Given the description of an element on the screen output the (x, y) to click on. 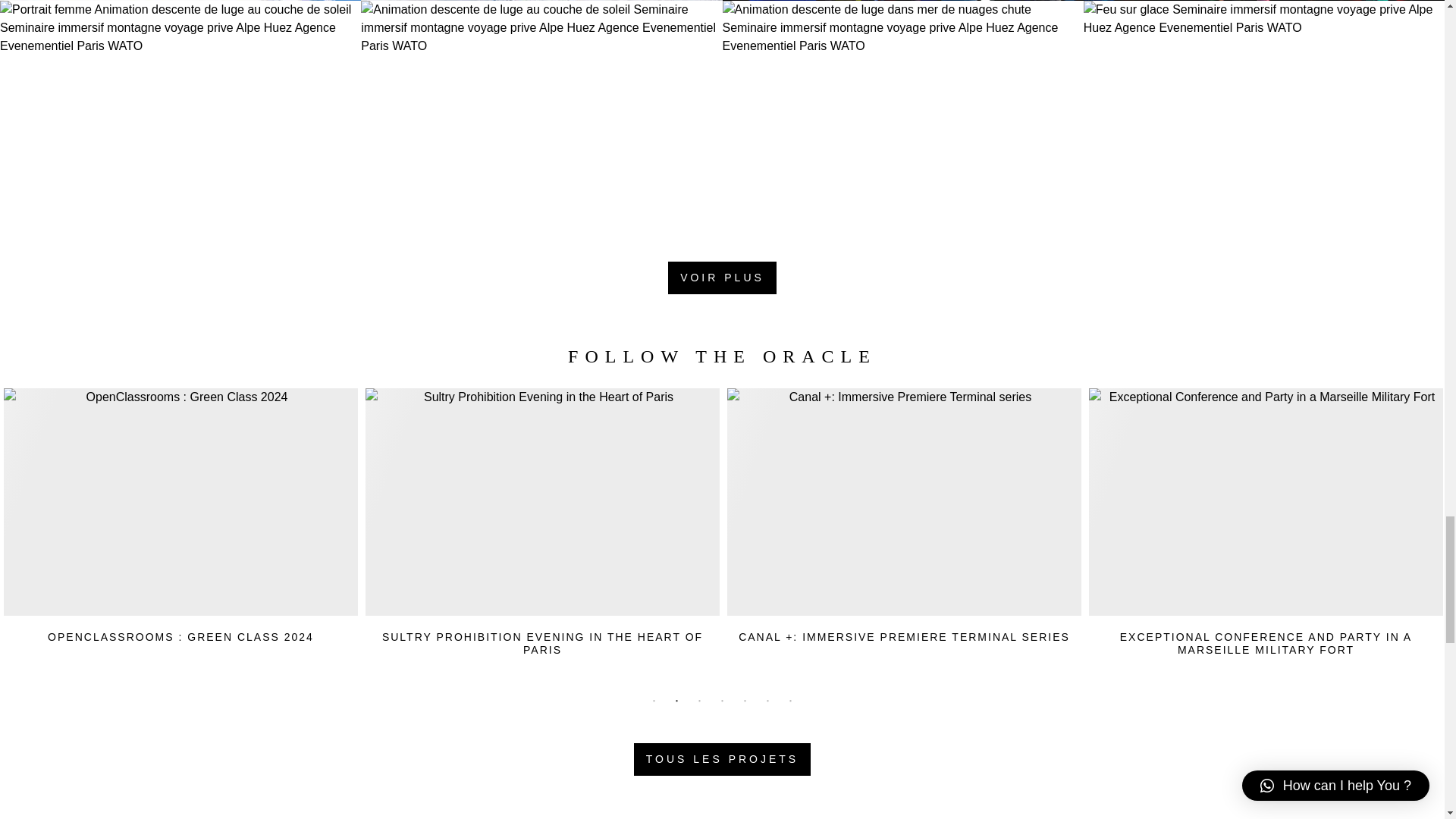
Sultry Prohibition Evening in the Heart of Paris (542, 535)
OpenClassrooms : Green Class 2024 (181, 535)
